Given the description of an element on the screen output the (x, y) to click on. 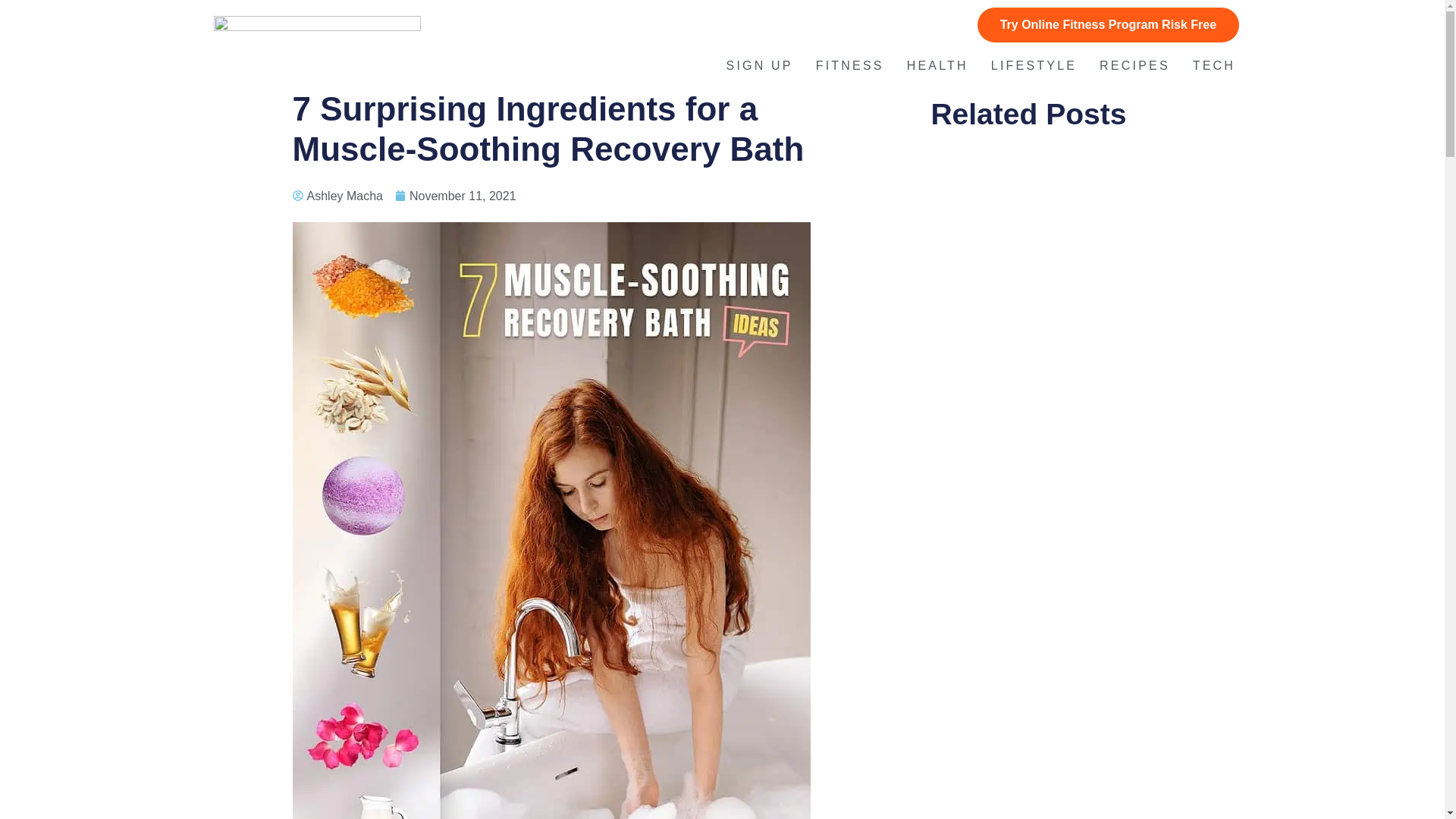
LIFESTYLE (1034, 65)
TECH (1214, 65)
Try Online Fitness Program Risk Free (1107, 24)
FITNESS (849, 65)
RECIPES (1134, 65)
HEALTH (937, 65)
SIGN UP (759, 65)
